Given the description of an element on the screen output the (x, y) to click on. 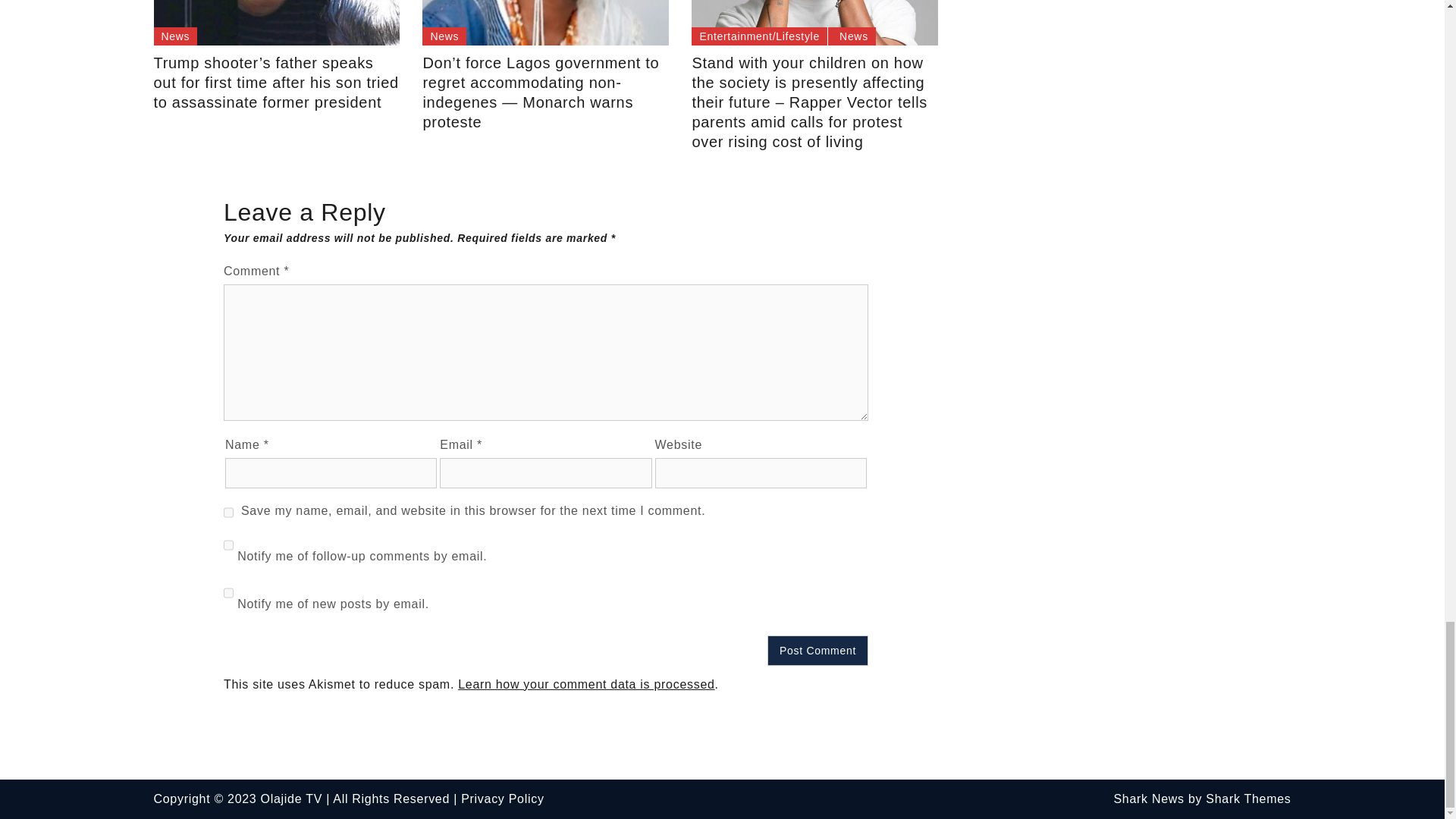
Post Comment (817, 650)
